Given the description of an element on the screen output the (x, y) to click on. 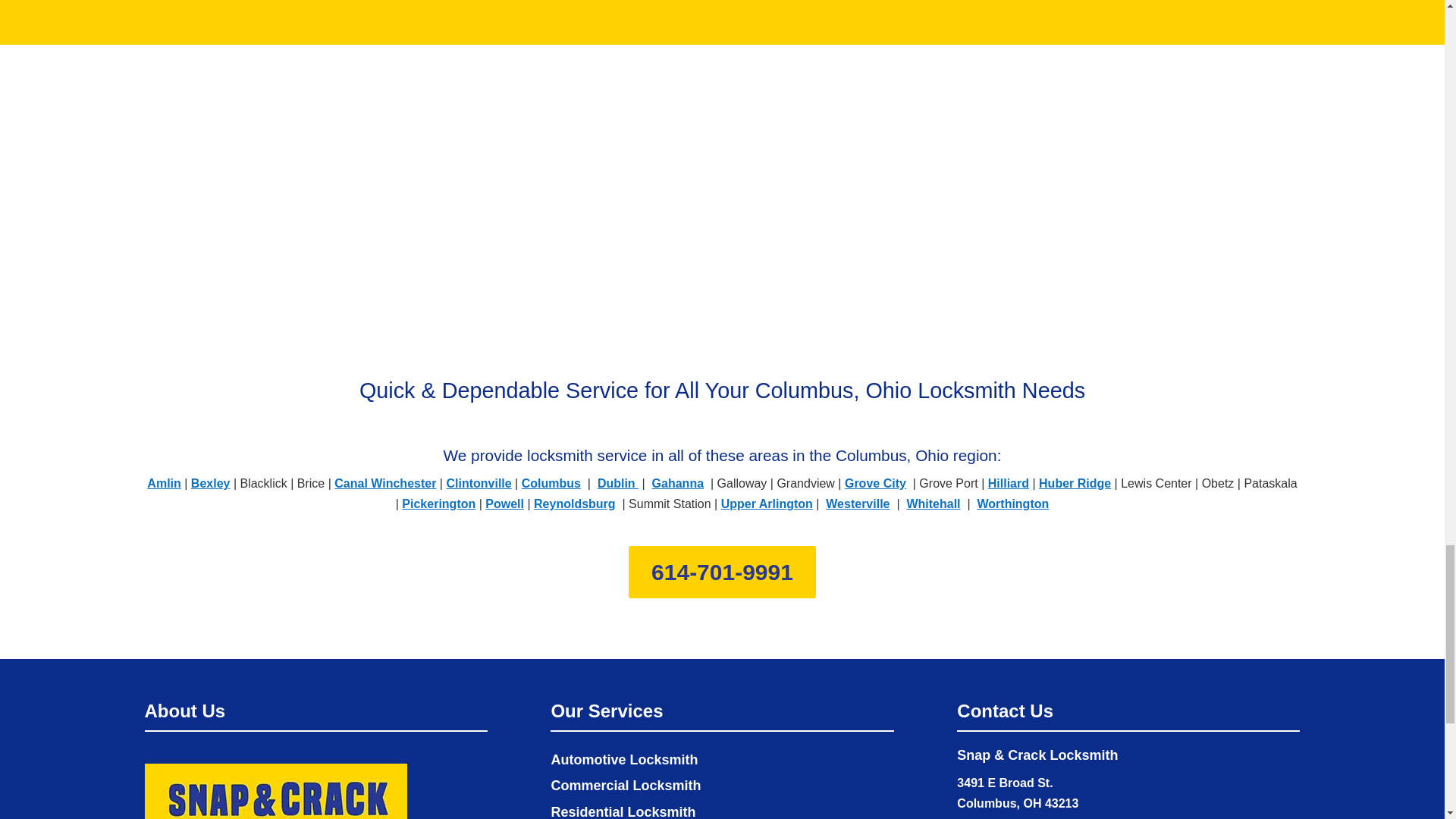
Columbus (550, 482)
